Given the description of an element on the screen output the (x, y) to click on. 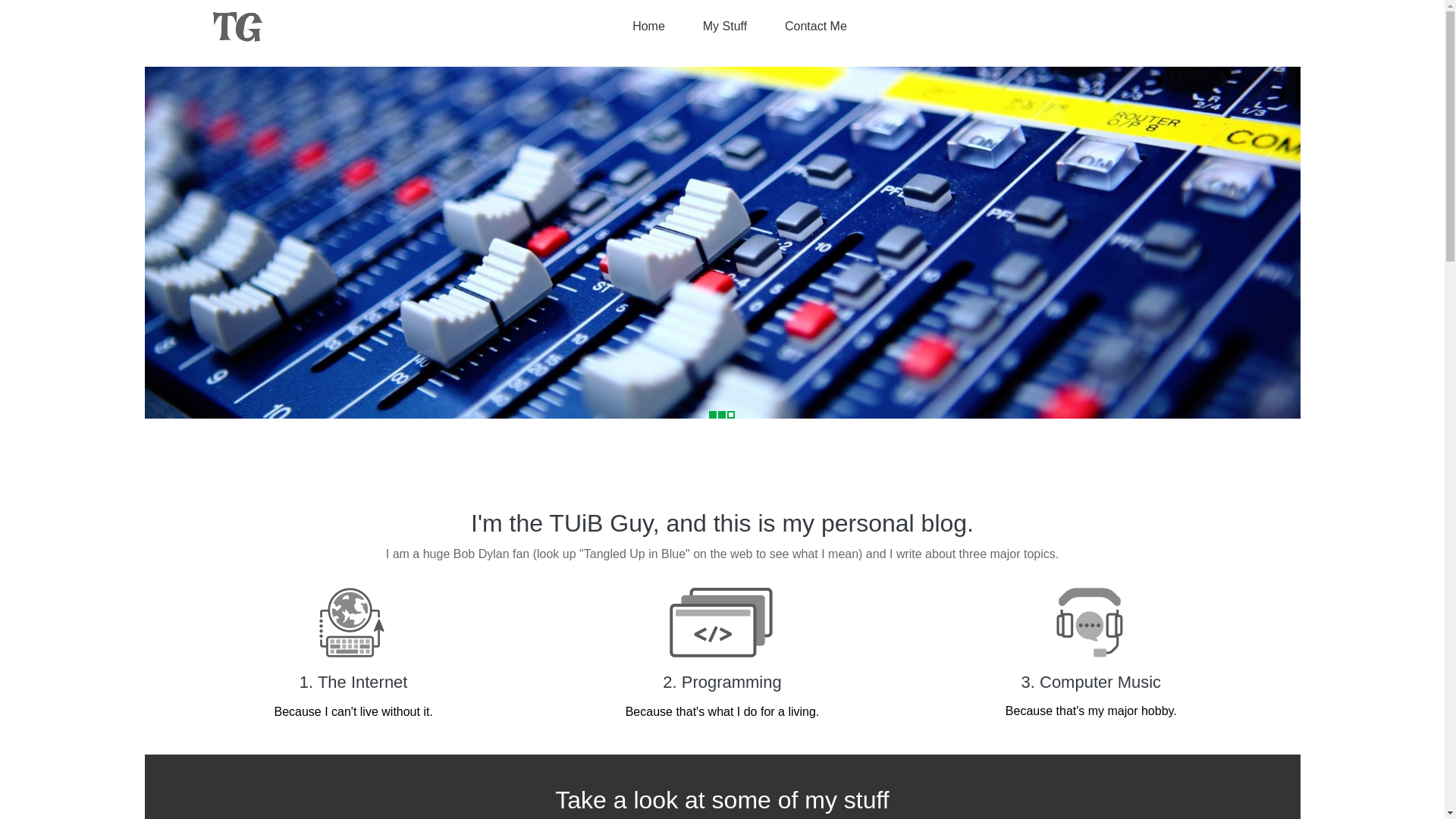
3 (729, 414)
1 (711, 414)
Contact Me (808, 26)
2 (721, 414)
My Stuff (716, 26)
Home (641, 26)
